Given the description of an element on the screen output the (x, y) to click on. 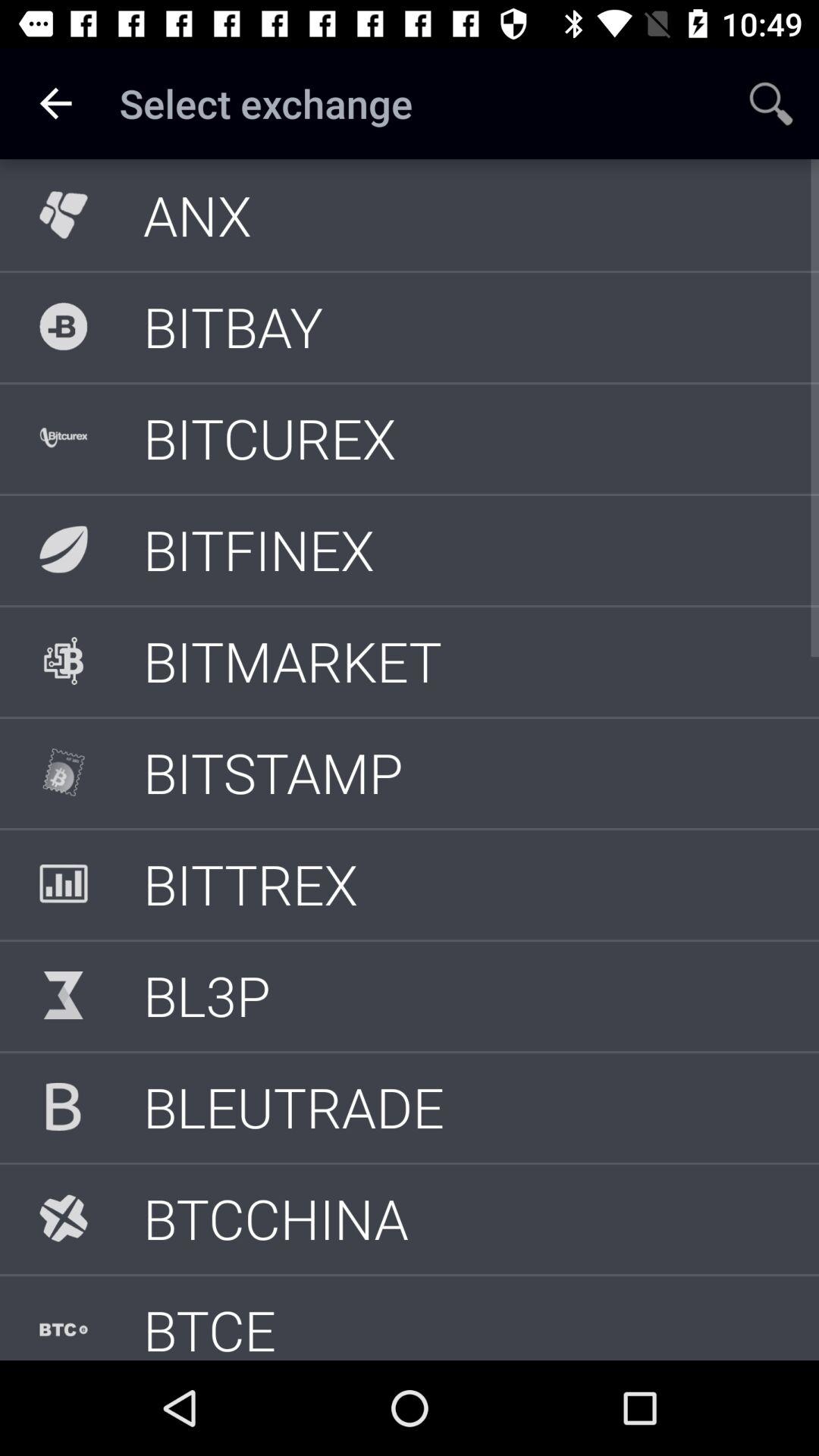
turn on icon next to the select exchange icon (55, 103)
